Given the description of an element on the screen output the (x, y) to click on. 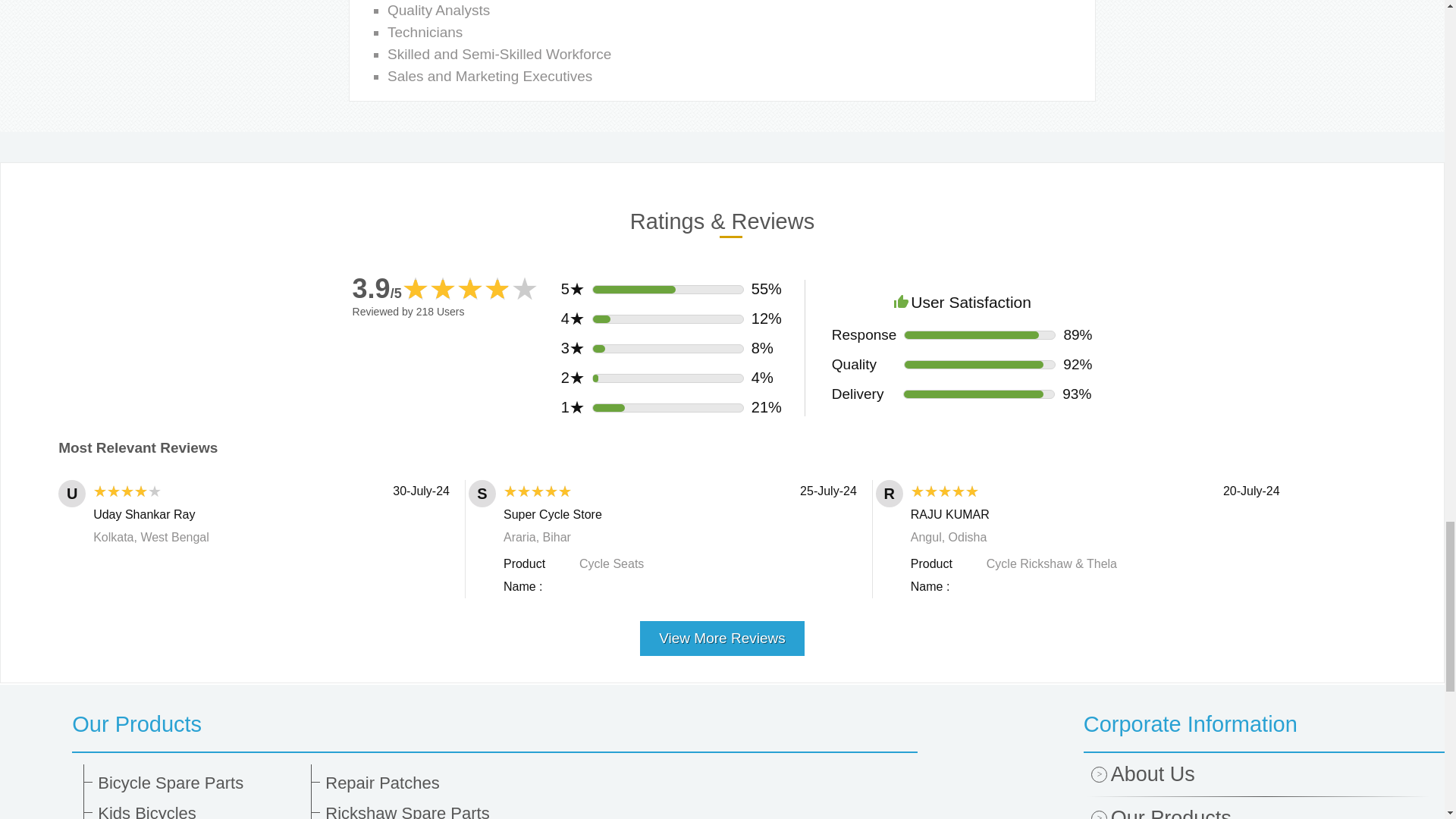
View More Reviews (721, 632)
3.9 out of 5 Votes (376, 287)
Bicycle Spare Parts (198, 782)
Kids Bicycles (198, 811)
Our Products (494, 723)
Rickshaw Spare Parts (426, 811)
Repair Patches (426, 782)
